Given the description of an element on the screen output the (x, y) to click on. 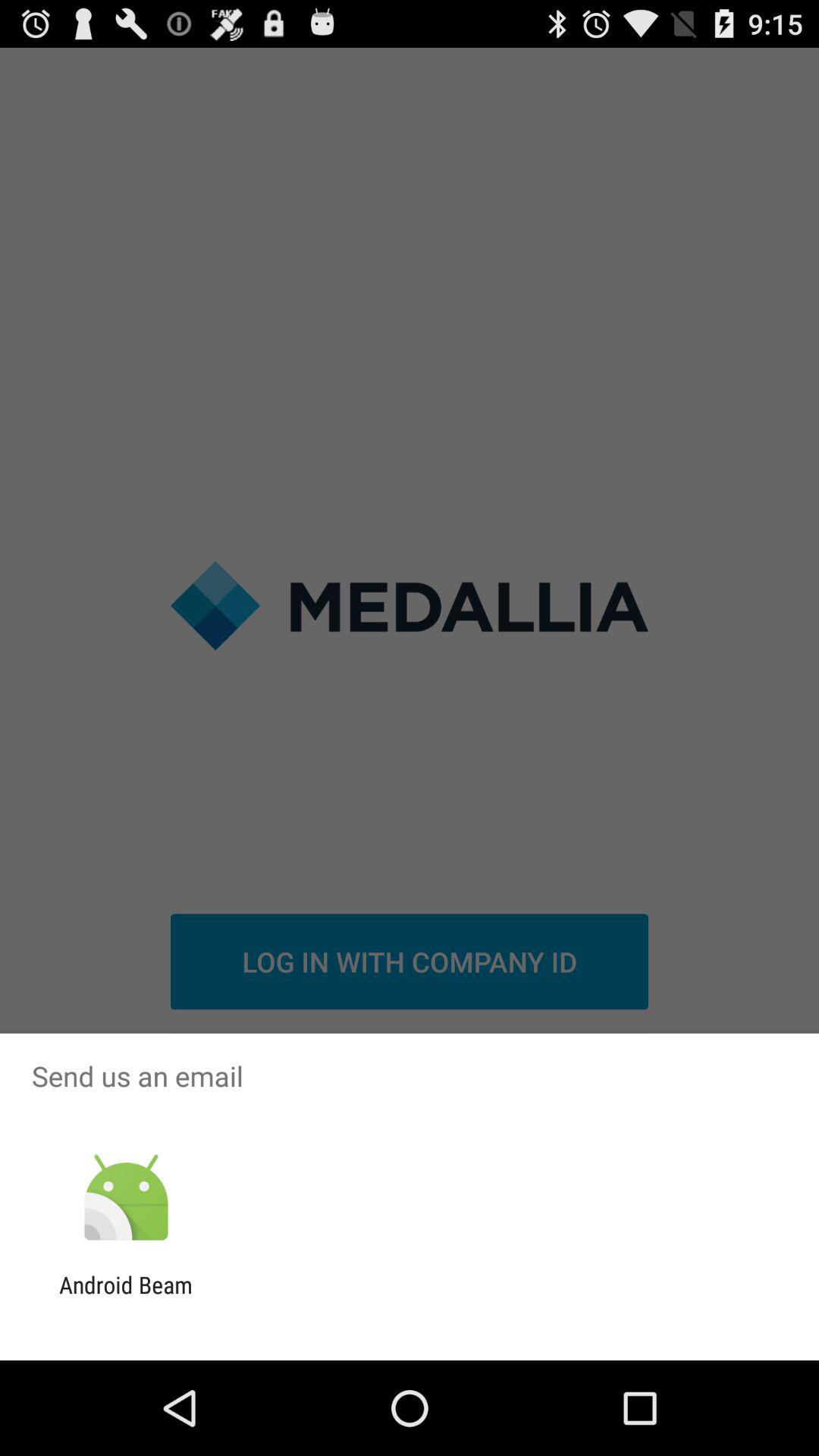
turn off android beam icon (125, 1298)
